Given the description of an element on the screen output the (x, y) to click on. 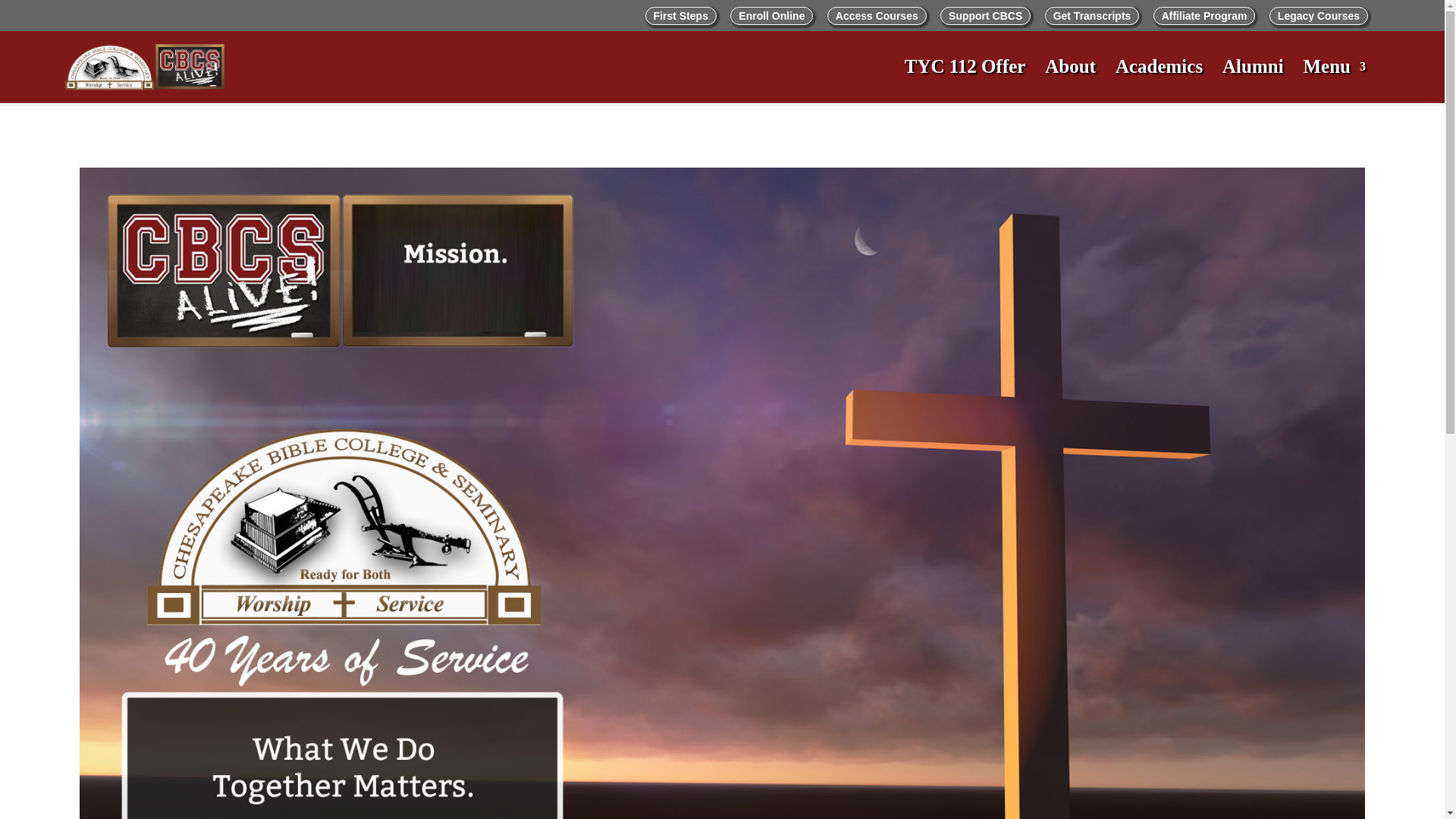
TYC 112 Offer (965, 79)
Menu (1334, 79)
Support CBCS (985, 15)
Enroll Online (771, 15)
First Steps (680, 15)
Access Courses (876, 15)
About (1070, 79)
Legacy Courses (1318, 15)
Affiliate Program (1204, 15)
Get Transcripts (1092, 15)
Alumni (1253, 79)
Academics (1158, 79)
